Given the description of an element on the screen output the (x, y) to click on. 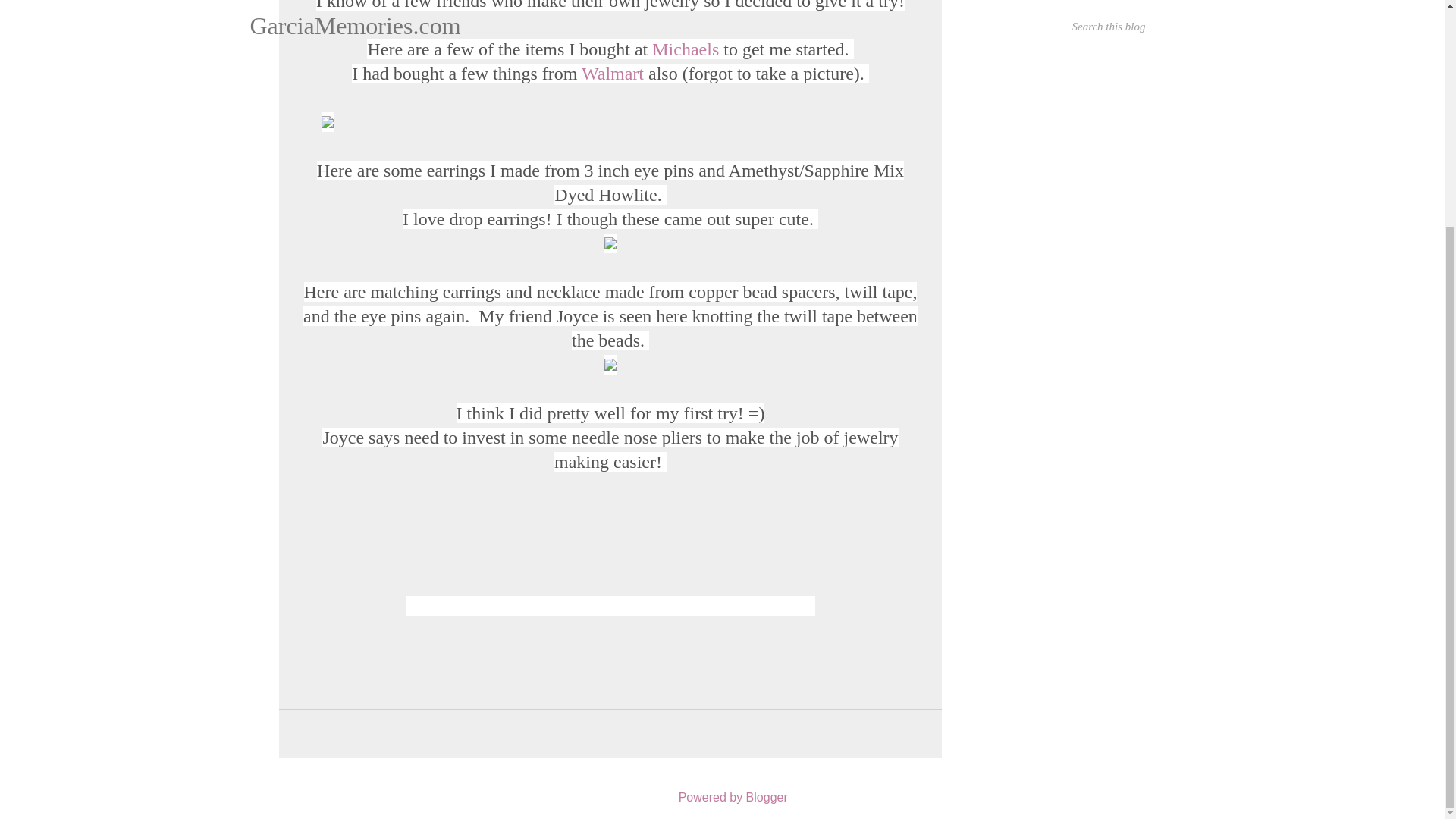
Powered by Blogger (721, 797)
Walmart (611, 73)
Michaels (685, 48)
